Given the description of an element on the screen output the (x, y) to click on. 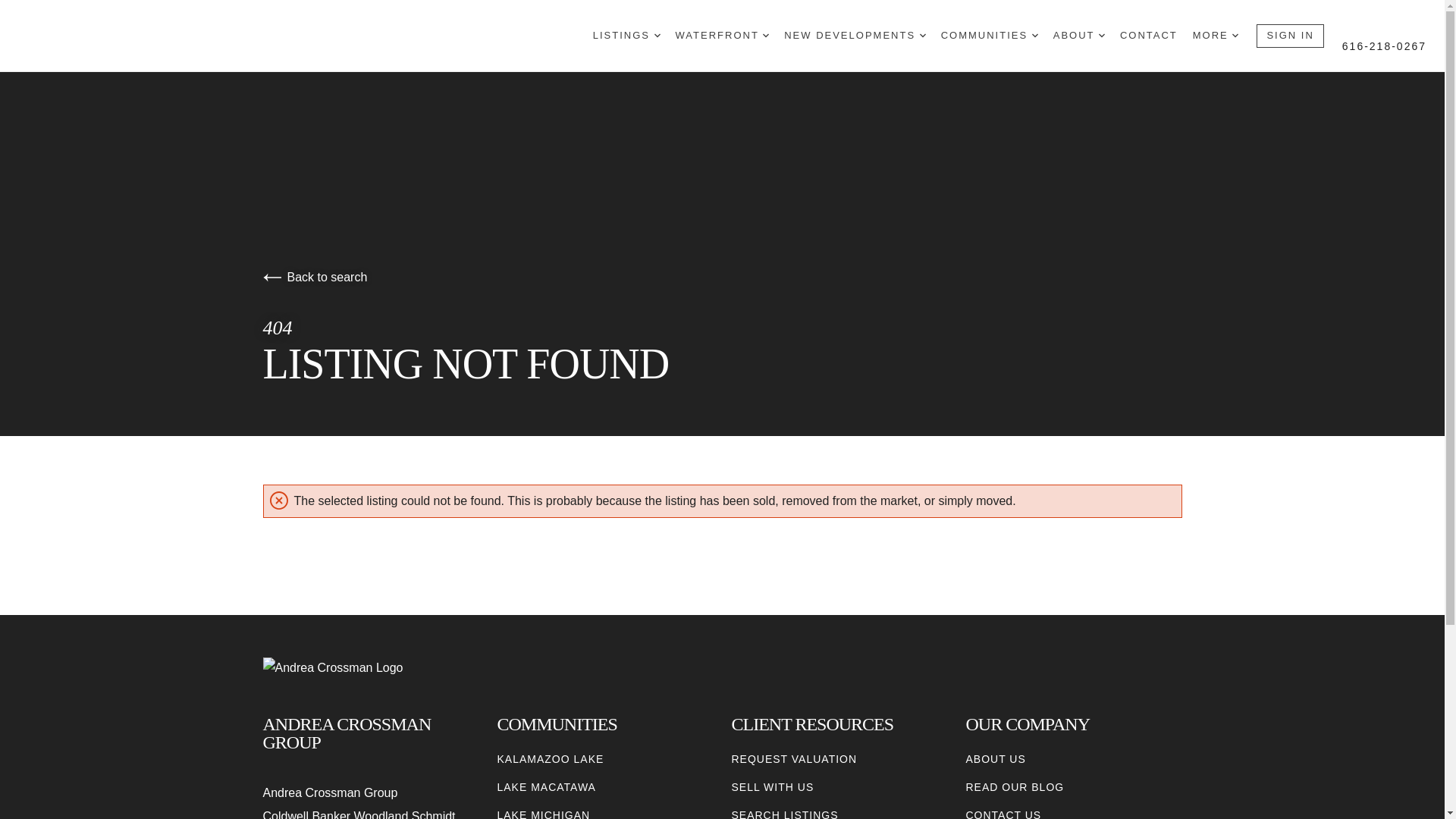
DROPDOWN ARROW (923, 35)
CONTACT (1148, 35)
WATERFRONT DROPDOWN ARROW (722, 35)
DROPDOWN ARROW (765, 35)
DROPDOWN ARROW (657, 35)
DROPDOWN ARROW (1235, 35)
COMMUNITIES DROPDOWN ARROW (989, 35)
DROPDOWN ARROW (1035, 35)
LISTINGS DROPDOWN ARROW (626, 35)
MORE DROPDOWN ARROW (1215, 35)
